Given the description of an element on the screen output the (x, y) to click on. 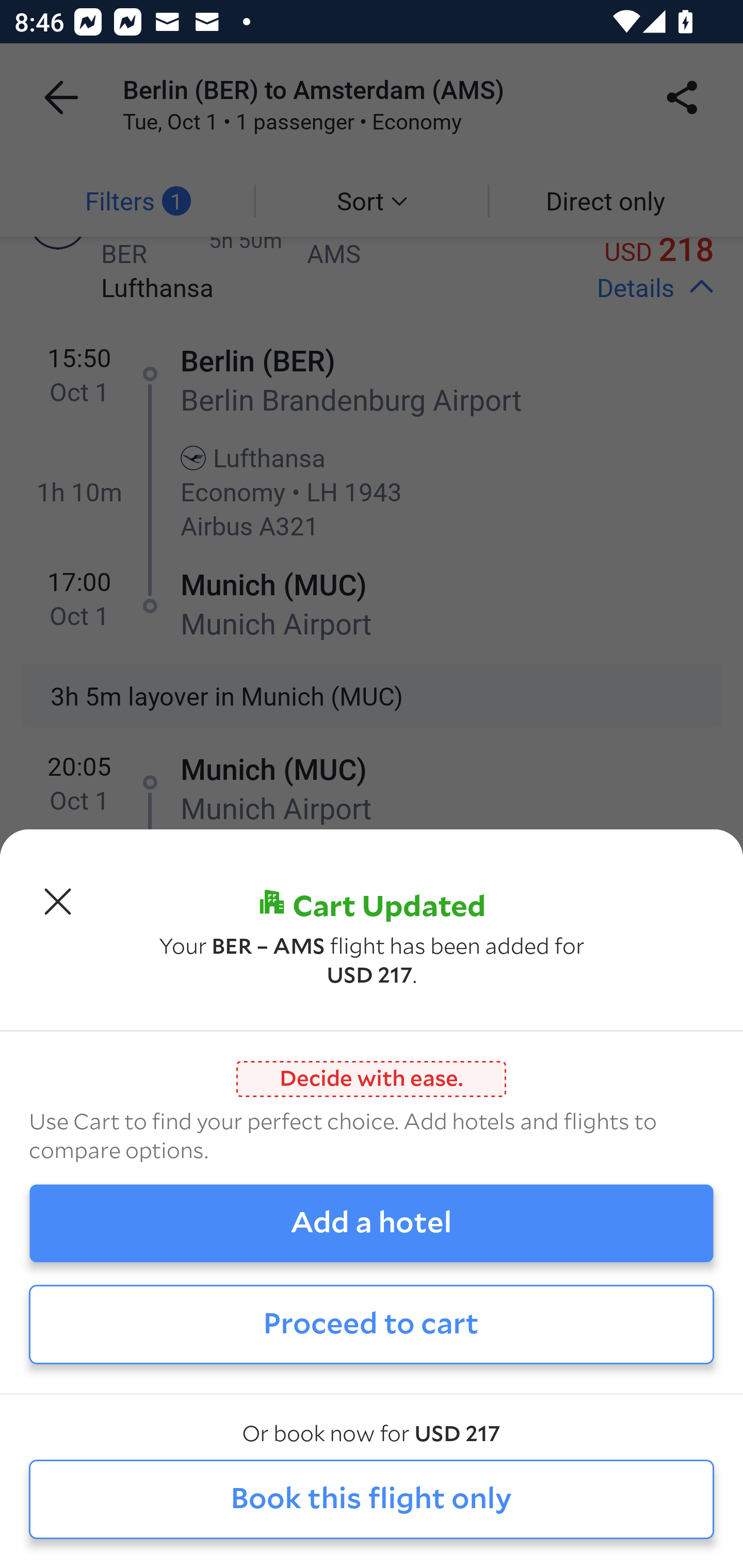
Add a hotel  Add a hotel (371, 1223)
Proceed to cart  Proceed to cart (371, 1324)
Book this flight only  Book this flight only (371, 1499)
